Given the description of an element on the screen output the (x, y) to click on. 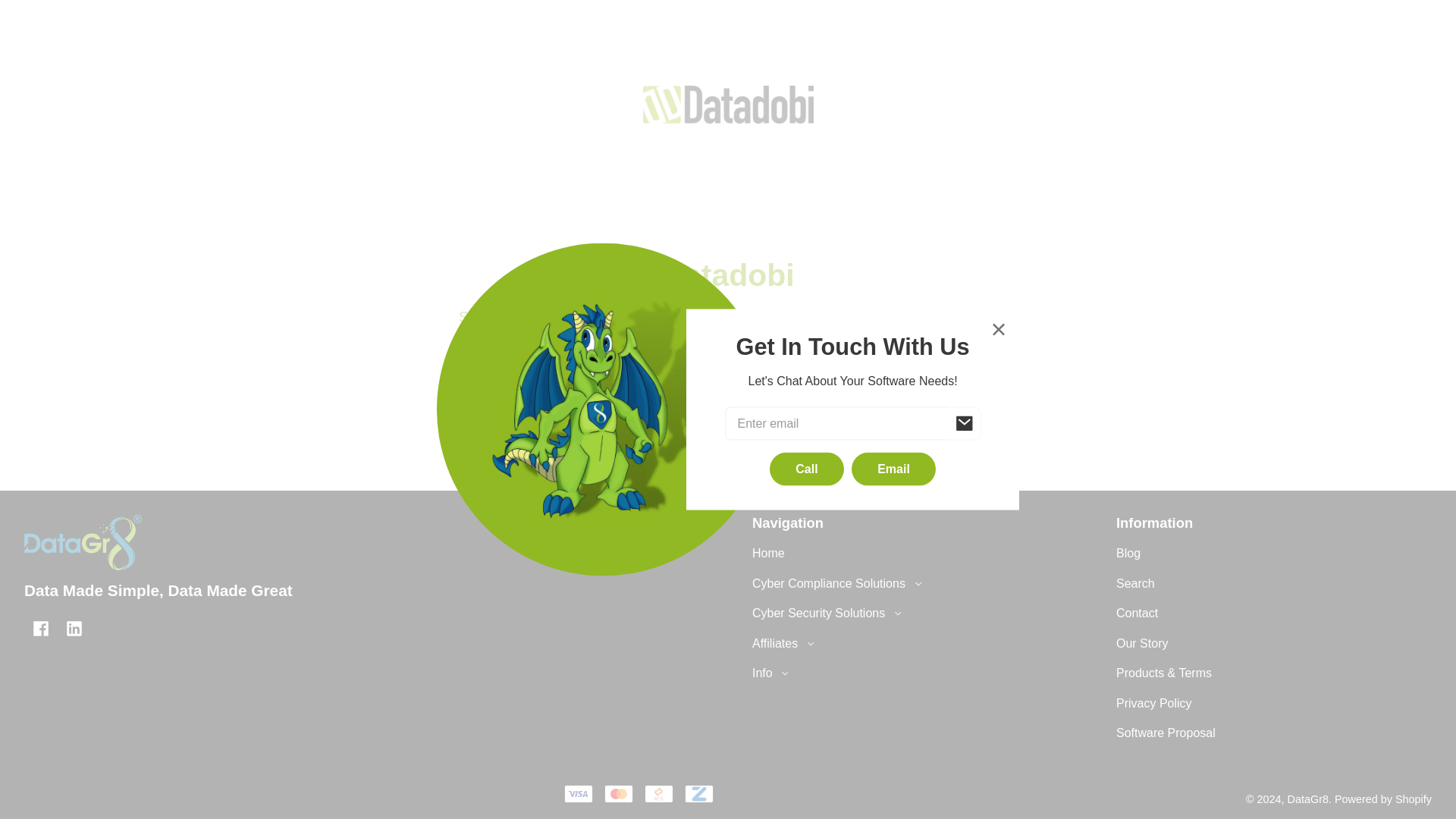
Mastercard (618, 793)
Visa (578, 793)
RCS (658, 793)
Zapper (698, 793)
